Given the description of an element on the screen output the (x, y) to click on. 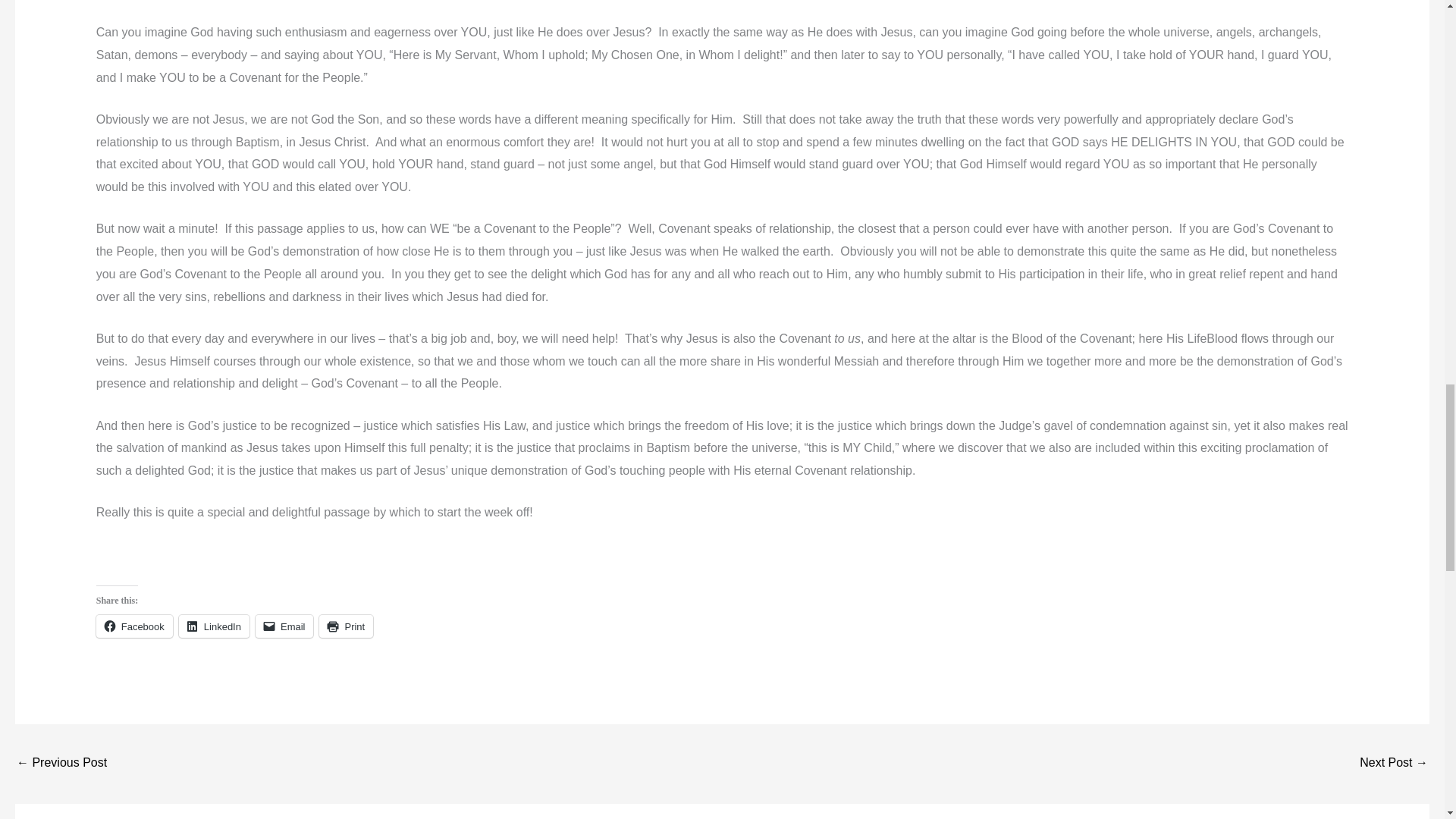
Click to email a link to a friend (285, 626)
Click to share on LinkedIn (213, 626)
Click to share on Facebook (134, 626)
Click to print (345, 626)
The Burdens of Life (1393, 764)
